Given the description of an element on the screen output the (x, y) to click on. 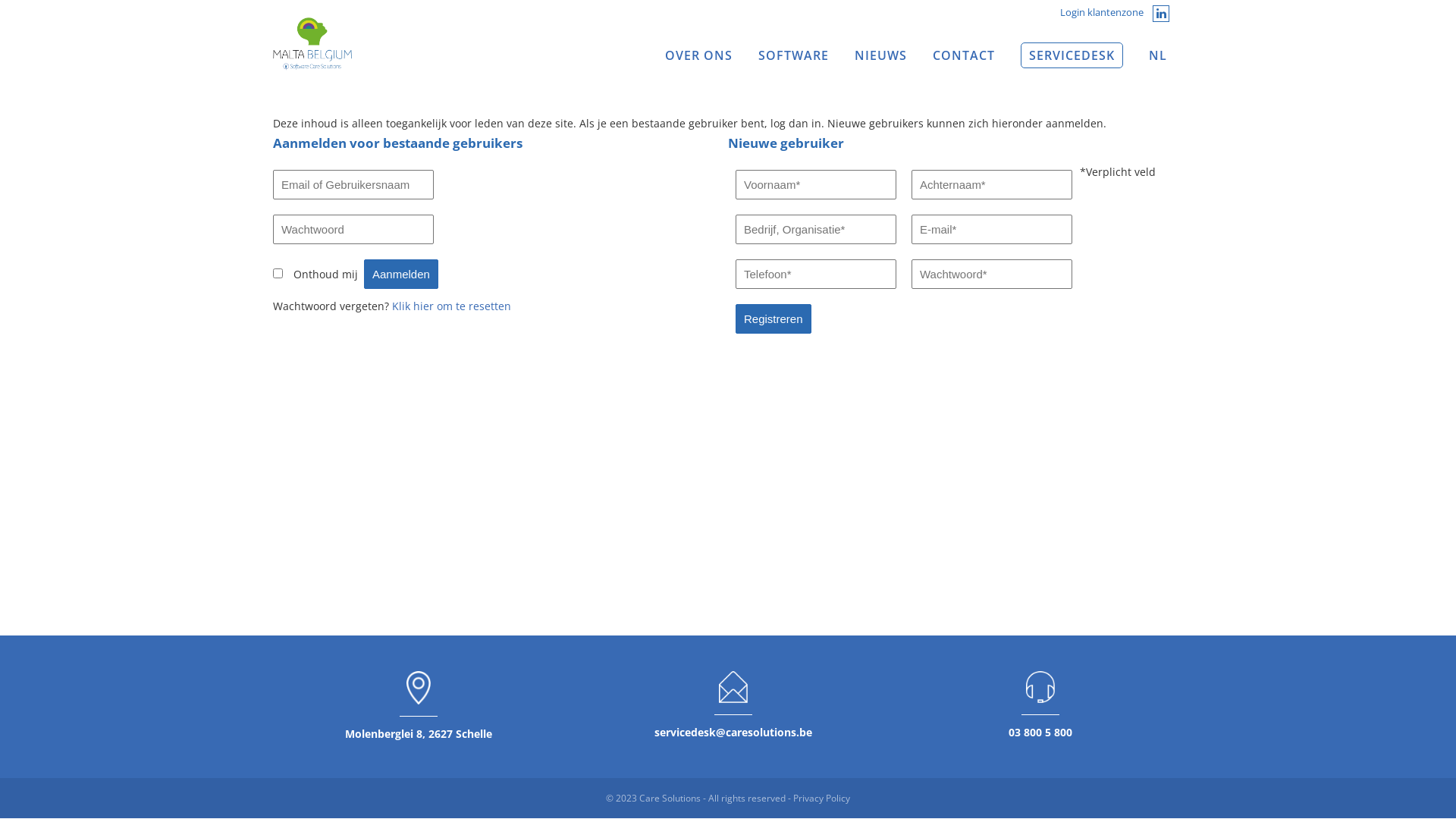
Login klantenzone Element type: text (1101, 11)
Aanmelden Element type: text (401, 273)
Klik hier om te resetten Element type: text (451, 305)
OVER ONS Element type: text (698, 55)
SOFTWARE Element type: text (793, 55)
servicedesk@caresolutions.be Element type: text (733, 732)
CONTACT Element type: text (963, 55)
03 800 5 800 Element type: text (1040, 732)
Registreren Element type: text (773, 318)
SERVICEDESK Element type: text (1071, 55)
NIEUWS Element type: text (880, 55)
Privacy Policy Element type: text (821, 797)
NL Element type: text (1159, 55)
